Given the description of an element on the screen output the (x, y) to click on. 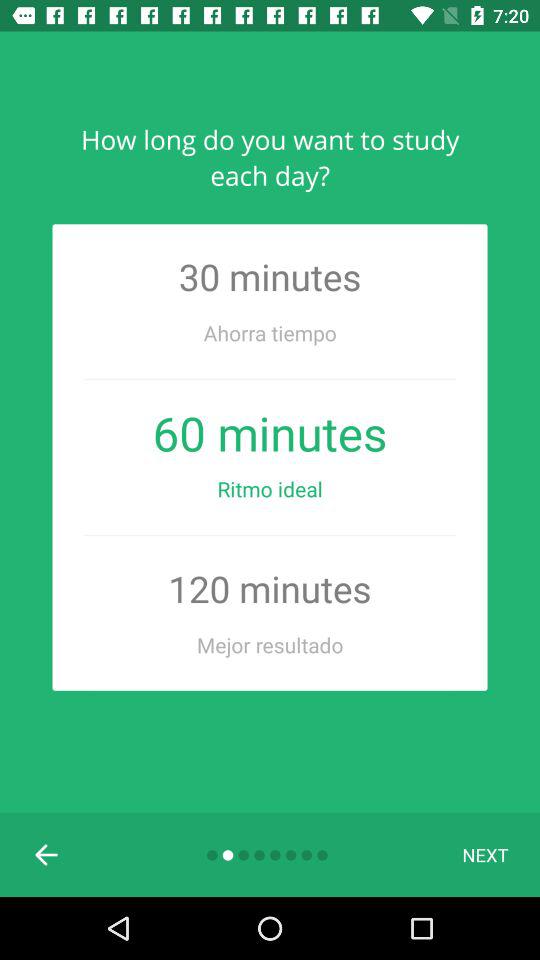
press next at the bottom right corner (485, 854)
